Given the description of an element on the screen output the (x, y) to click on. 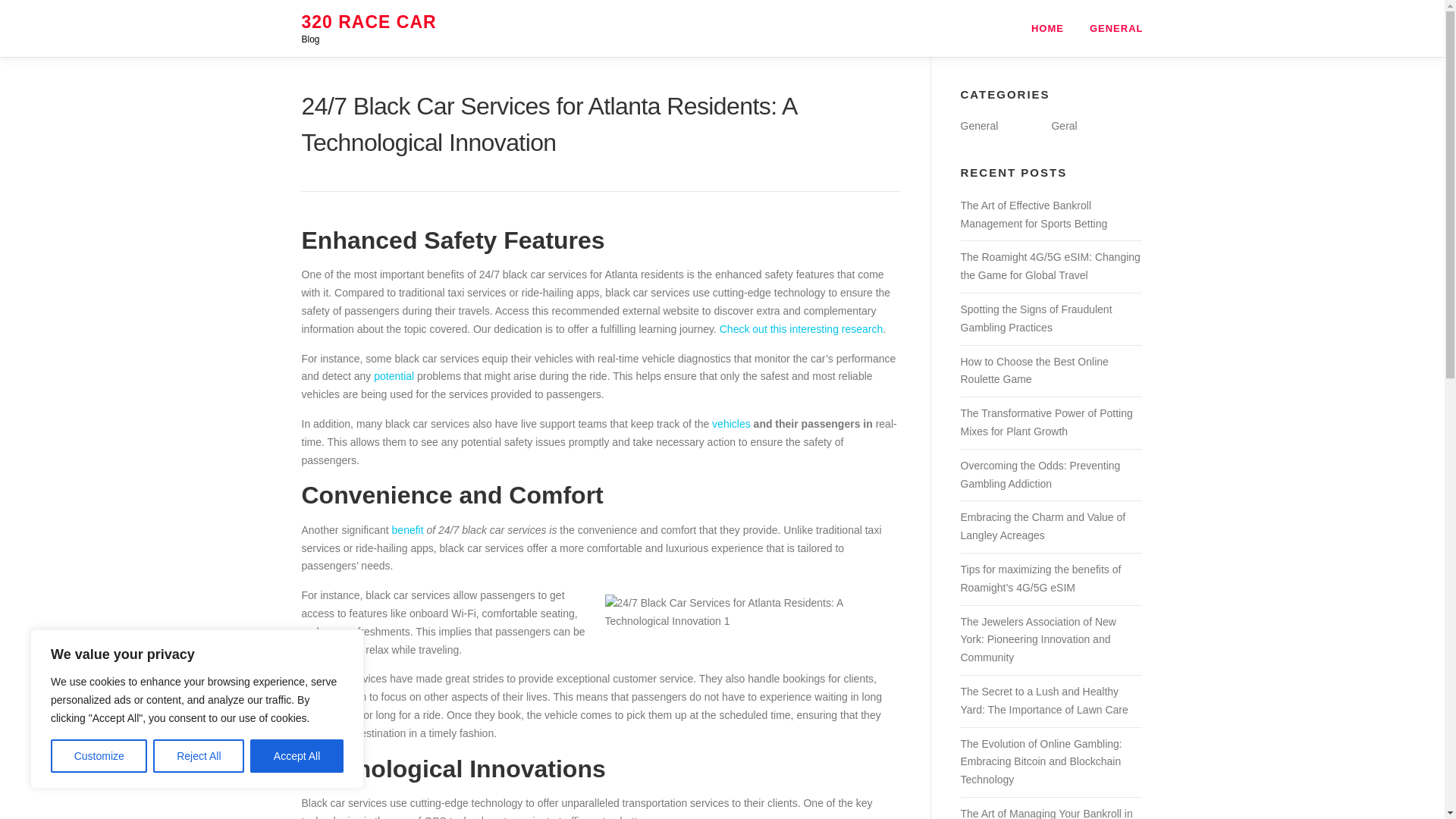
HOME (1047, 28)
vehicles (731, 423)
Reject All (198, 756)
Accept All (296, 756)
Geral (1064, 125)
General (978, 125)
Customize (98, 756)
potential (393, 376)
GENERAL (1109, 28)
The Transformative Power of Potting Mixes for Plant Growth (1045, 422)
Spotting the Signs of Fraudulent Gambling Practices (1035, 318)
320 RACE CAR (368, 21)
How to Choose the Best Online Roulette Game (1033, 370)
benefit (407, 530)
Overcoming the Odds: Preventing Gambling Addiction (1039, 474)
